Given the description of an element on the screen output the (x, y) to click on. 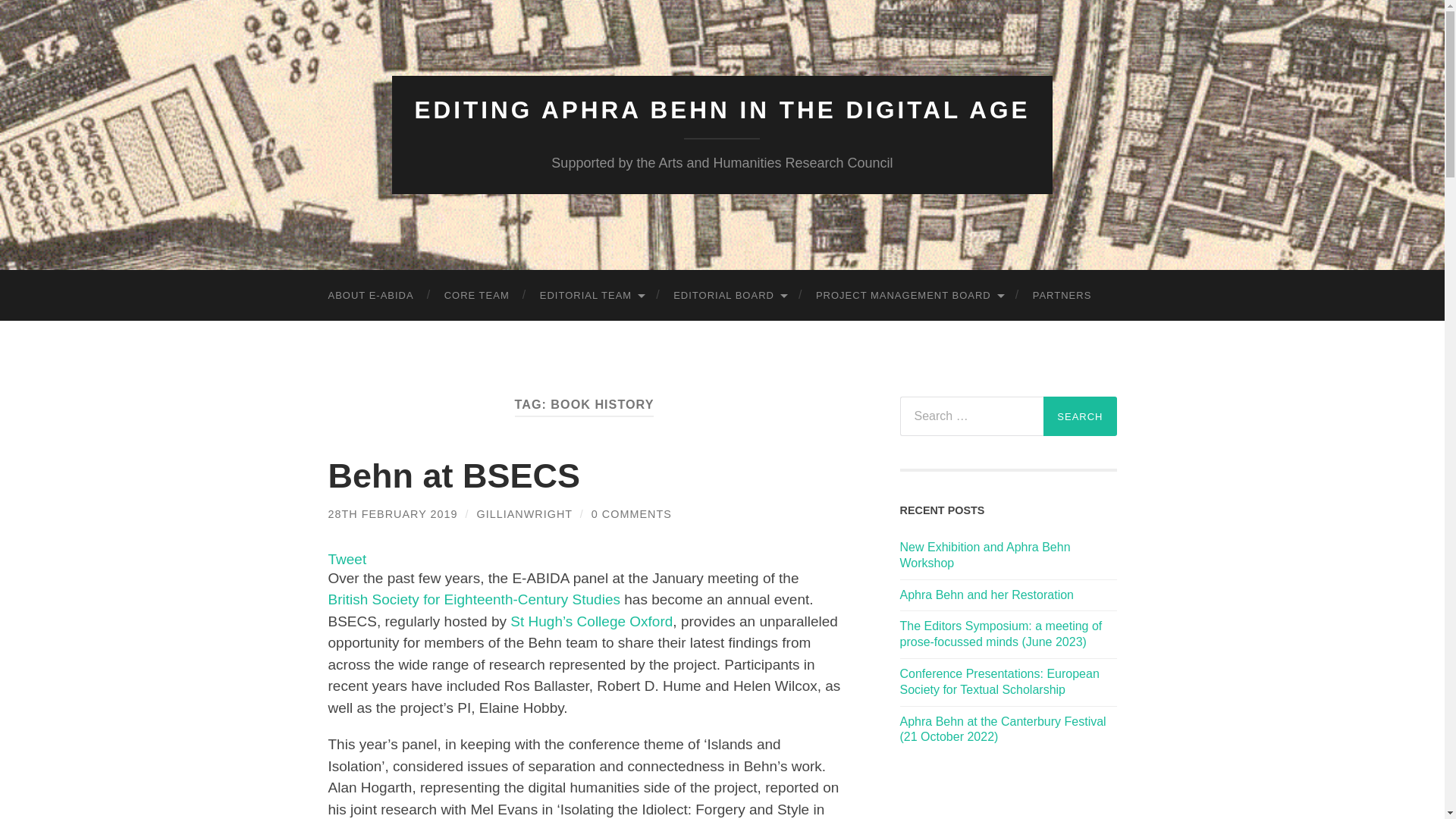
Search (1079, 415)
PARTNERS (1061, 295)
EDITING APHRA BEHN IN THE DIGITAL AGE (722, 109)
ABOUT E-ABIDA (370, 295)
PROJECT MANAGEMENT BOARD (908, 295)
EDITORIAL TEAM (591, 295)
EDITORIAL BOARD (729, 295)
Posts by gillianwright (524, 513)
Search (1079, 415)
CORE TEAM (476, 295)
